Given the description of an element on the screen output the (x, y) to click on. 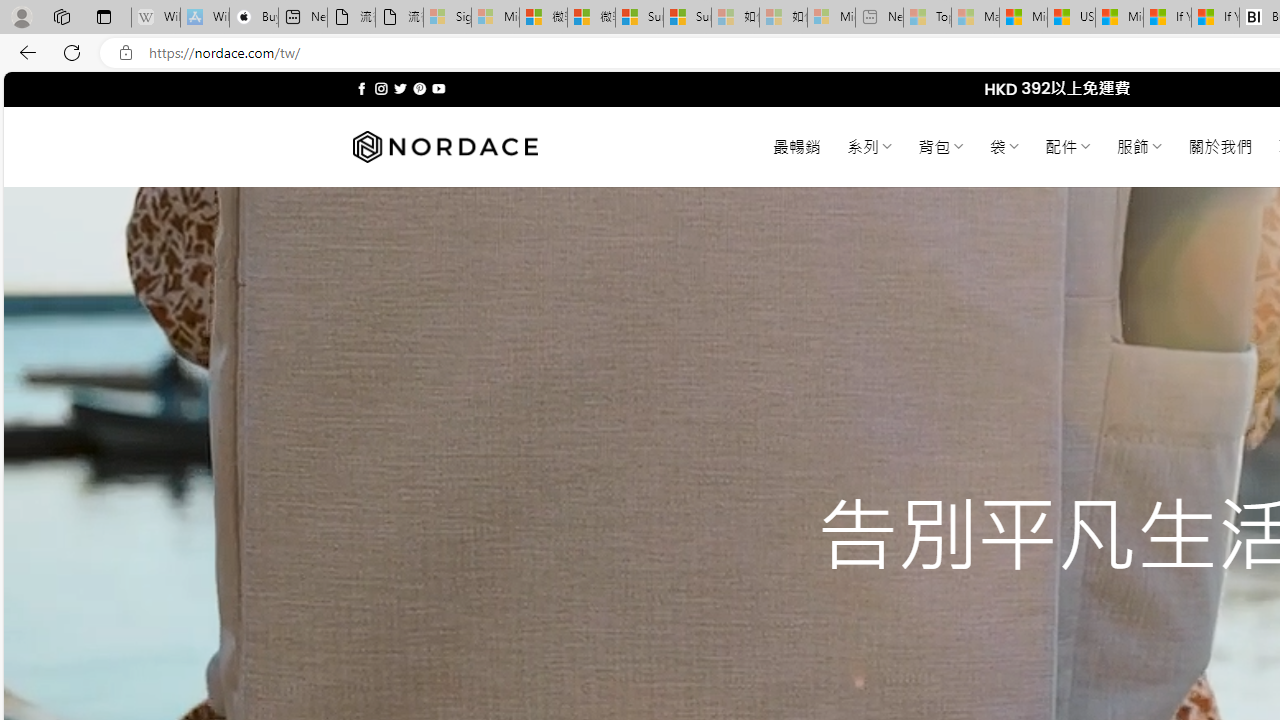
Follow on Twitter (400, 88)
Follow on YouTube (438, 88)
Follow on Facebook (361, 88)
